Given the description of an element on the screen output the (x, y) to click on. 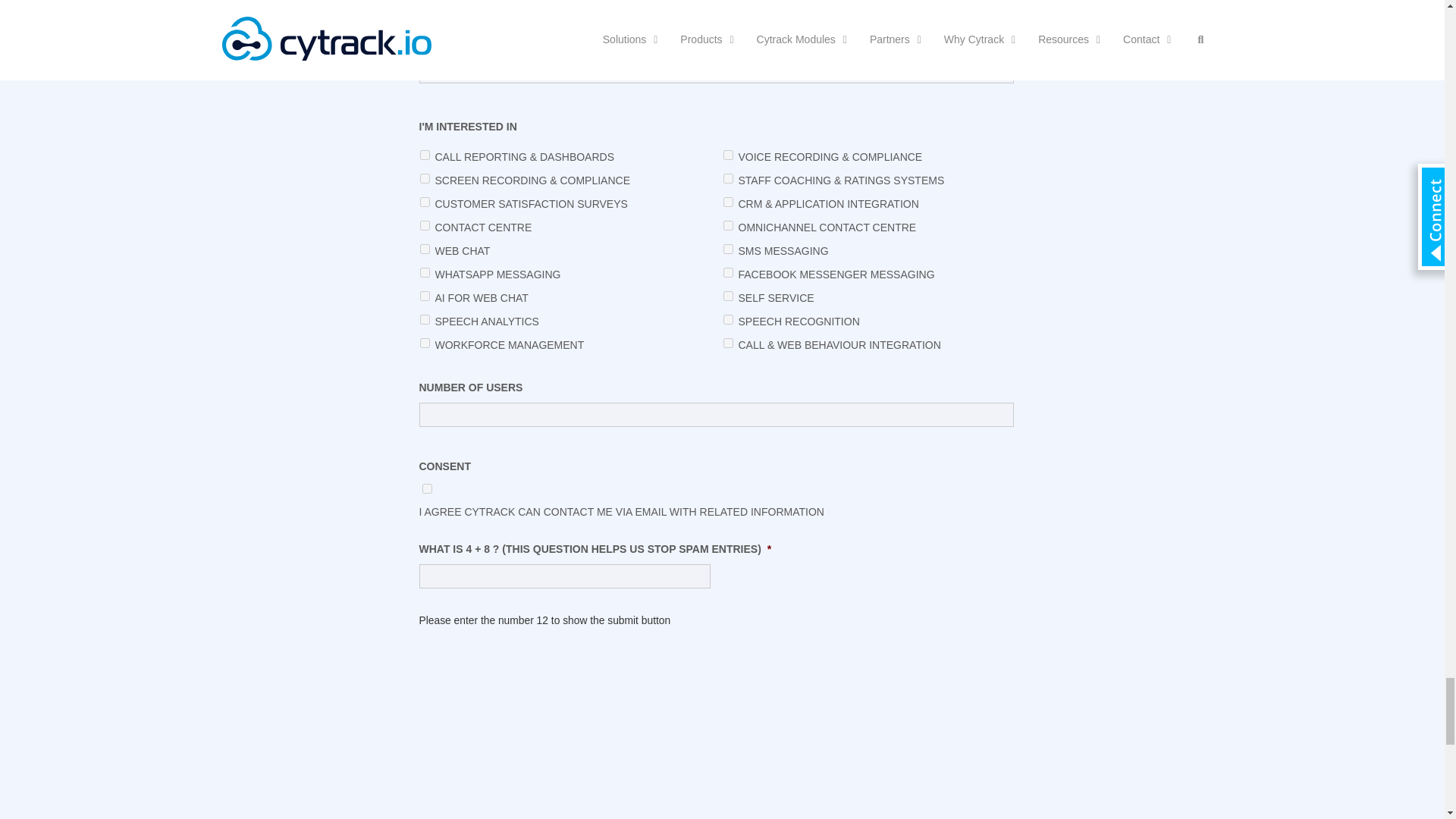
SMS MESSAGING (728, 248)
WHATSAPP MESSAGING (424, 272)
FACEBOOK MESSENGER MESSAGING (728, 272)
WEB CHAT (424, 248)
CUSTOMER SATISFACTION SURVEYS (424, 202)
CONTACT CENTRE (424, 225)
SELF SERVICE (728, 296)
OMNICHANNEL CONTACT CENTRE (728, 225)
AI FOR WEB CHAT (424, 296)
